Given the description of an element on the screen output the (x, y) to click on. 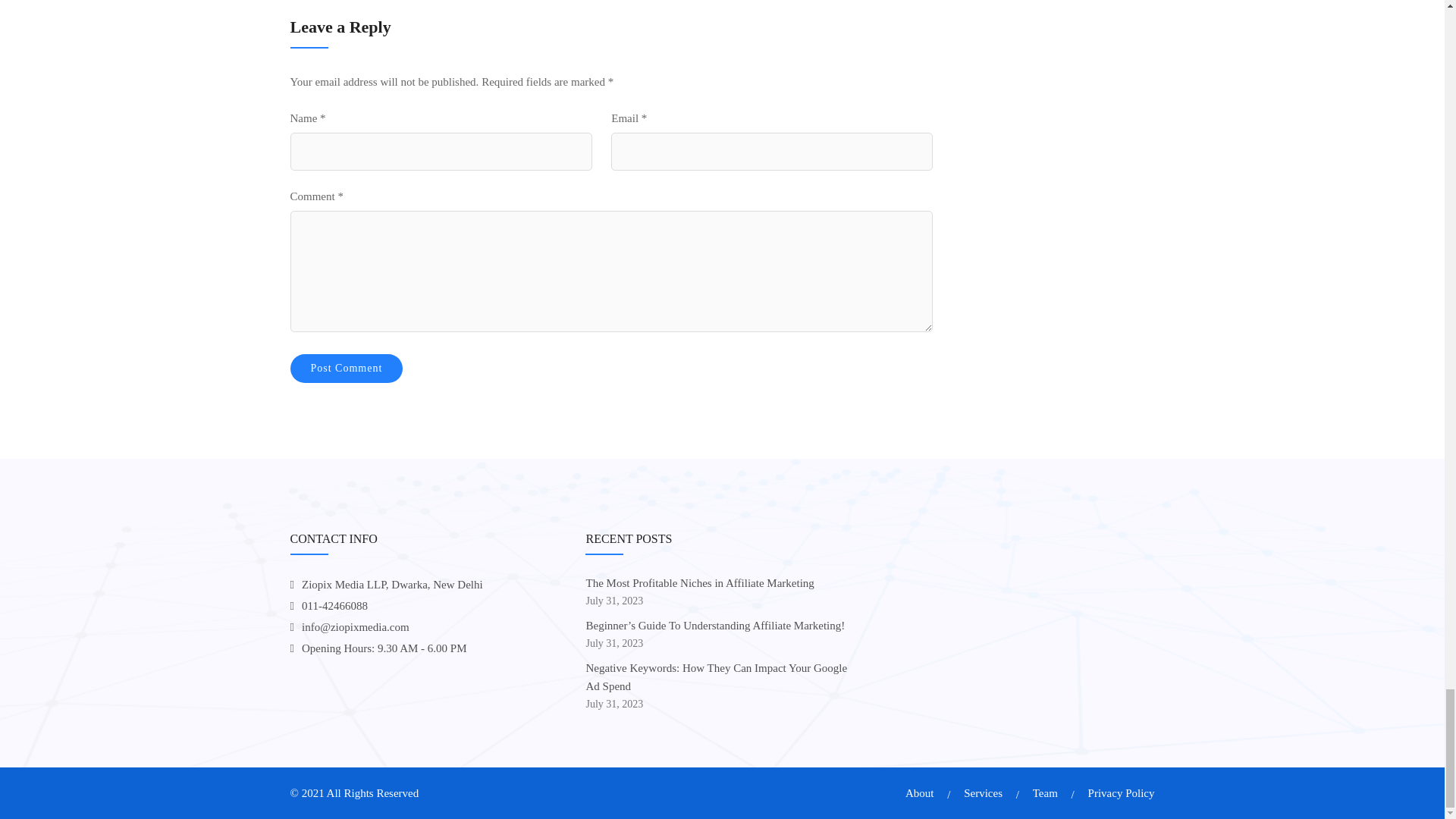
Negative Keywords: How They Can Impact Your Google Ad Spend (716, 676)
The Most Profitable Niches in Affiliate Marketing (699, 582)
Post Comment (346, 368)
Post Comment (346, 368)
